Given the description of an element on the screen output the (x, y) to click on. 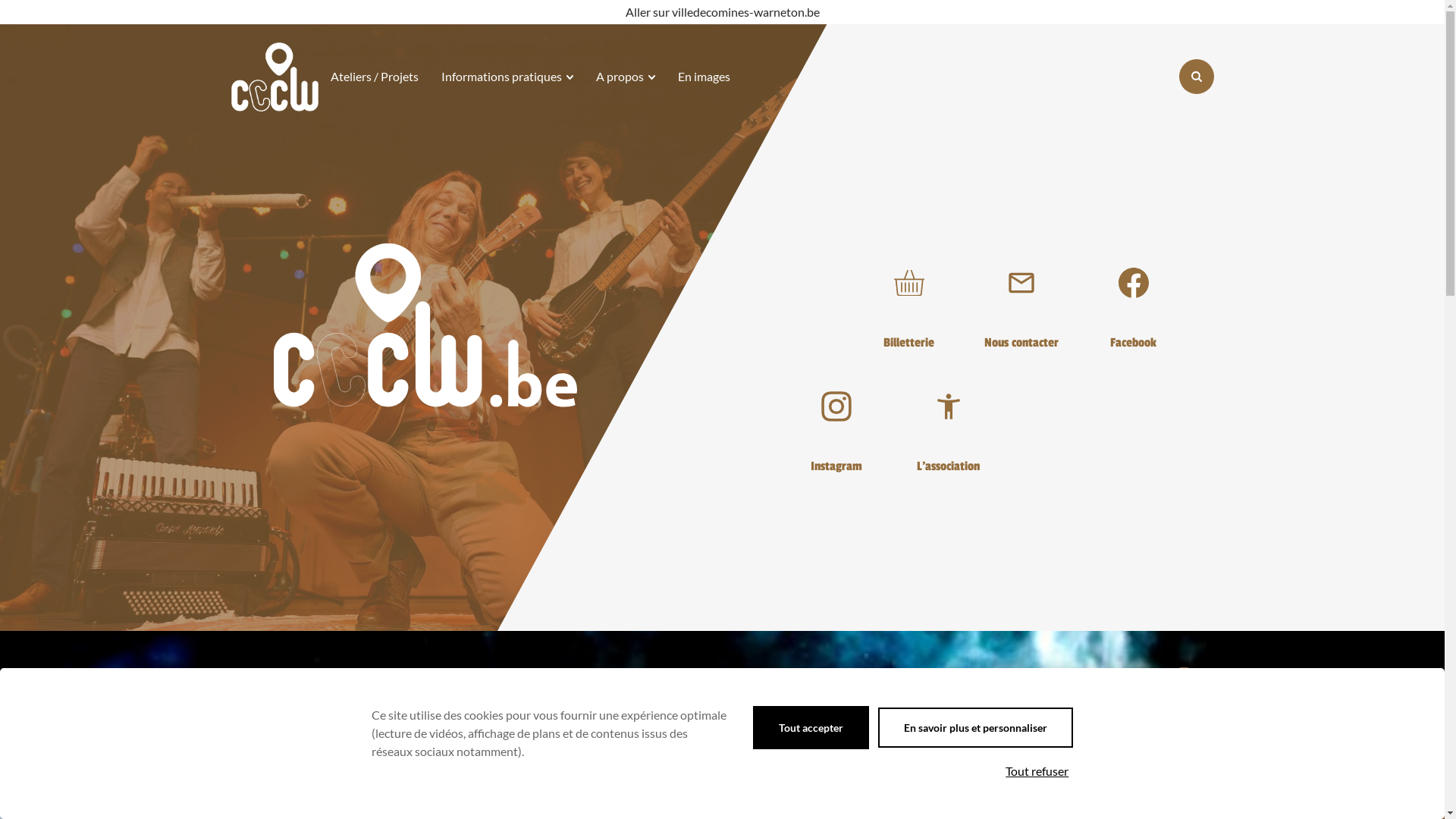
En images Element type: text (703, 76)
En savoir plus et personnaliser Element type: text (975, 727)
Tout accepter Element type: text (811, 727)
Rechercher Element type: text (1195, 76)
Ateliers / Projets Element type: text (374, 76)
Instagram Element type: text (835, 422)
Centre culturel Element type: hover (273, 76)
A propos Element type: text (625, 76)
Facebook Element type: text (1132, 298)
Nous contacter Element type: text (1020, 298)
Billetterie Element type: text (908, 298)
Centre culturel Element type: hover (273, 76)
L'association Element type: text (947, 422)
Aller sur villedecomines-warneton.be Element type: text (721, 11)
Tout refuser Element type: text (1037, 771)
Informations pratiques Element type: text (507, 76)
